Given the description of an element on the screen output the (x, y) to click on. 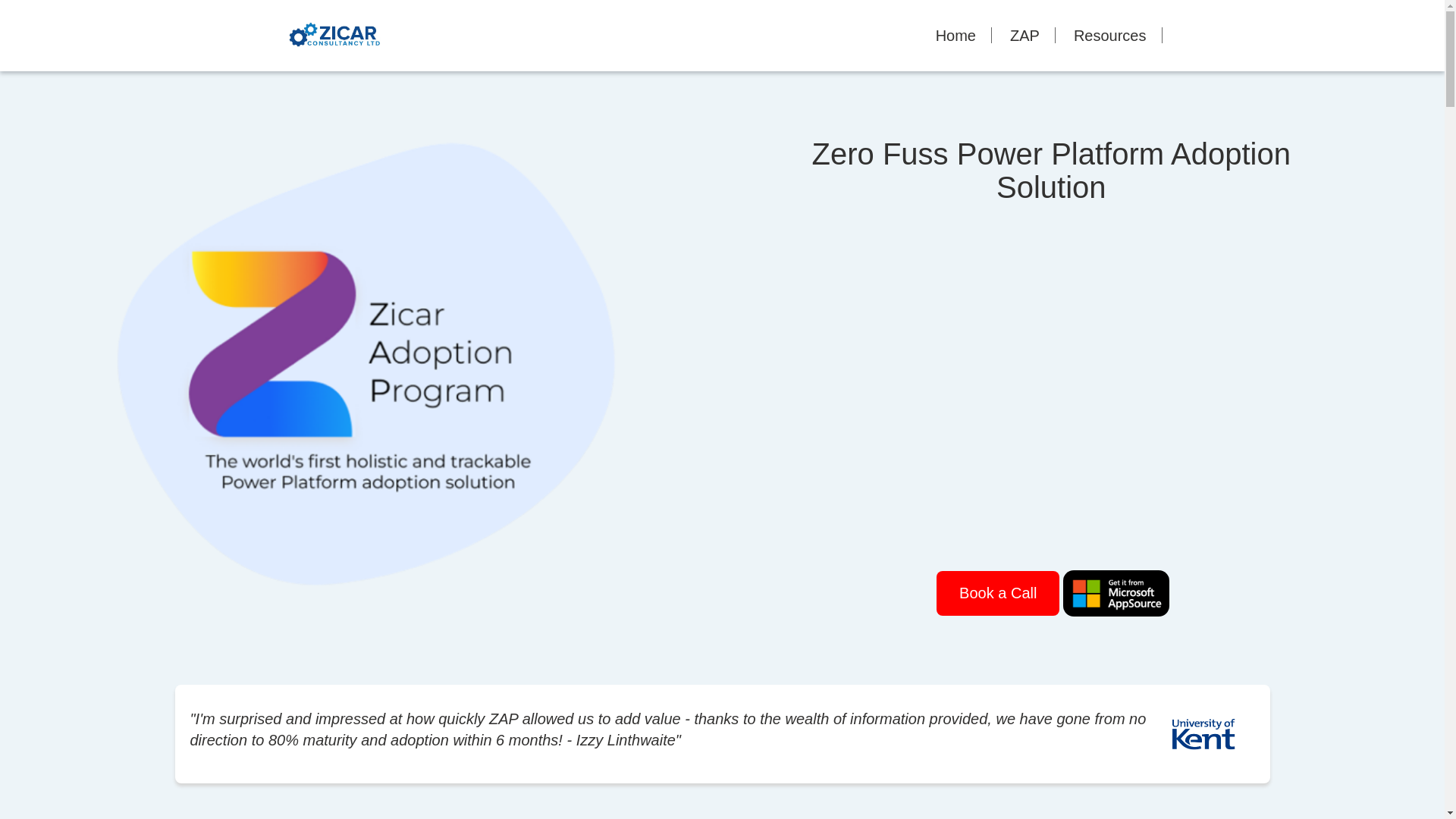
Home (955, 35)
Home (955, 35)
ZAP (1024, 35)
Resources (1109, 35)
Resources (1109, 35)
Book a Call (997, 592)
ZAP (1024, 35)
Book a Call (997, 593)
